Given the description of an element on the screen output the (x, y) to click on. 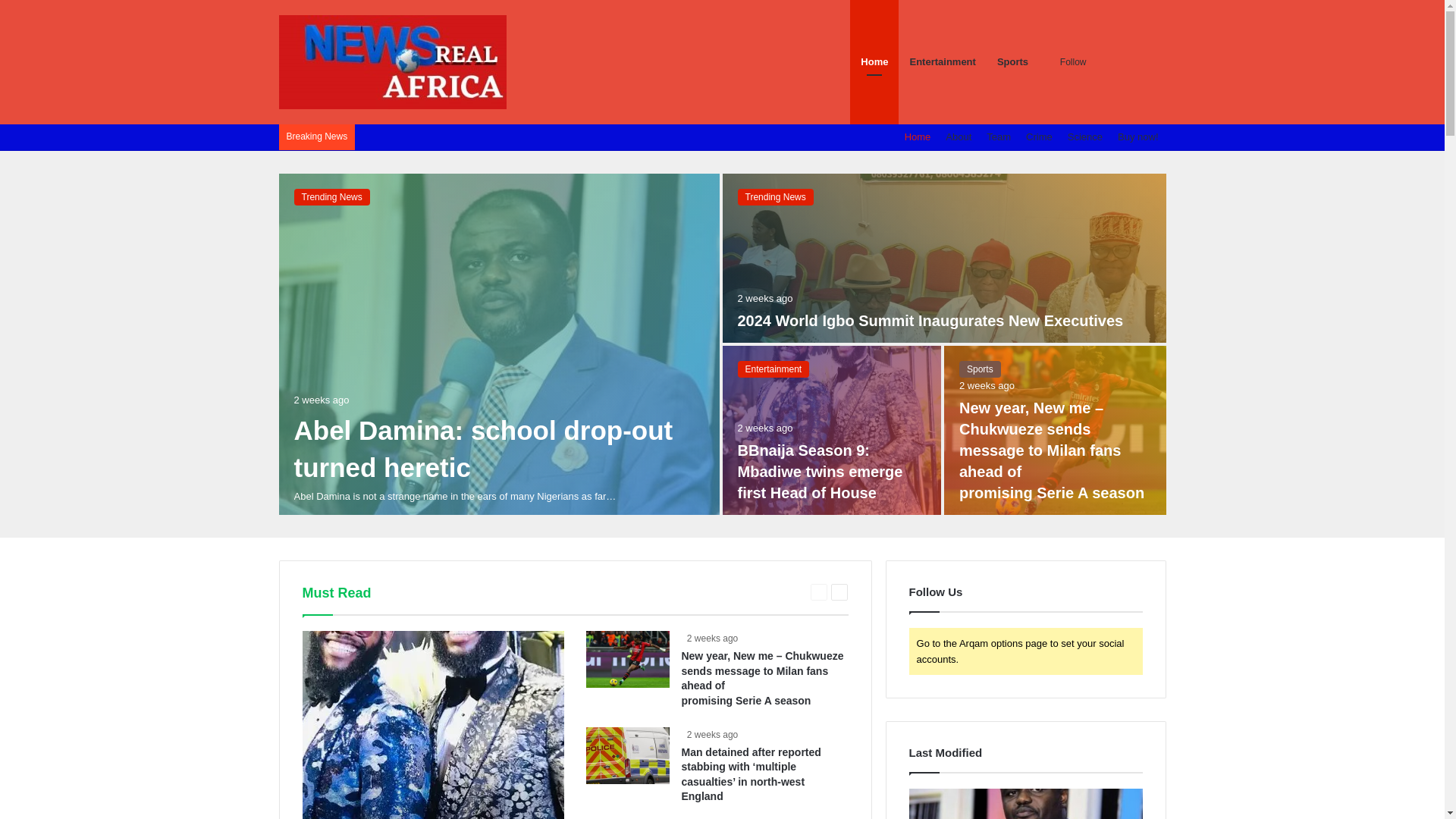
About (957, 136)
2024 World Igbo Summit Inaugurates New Executives (929, 320)
Buy now! (1137, 136)
Trending News (331, 197)
Crime (1038, 136)
Buy now! (1137, 136)
Entertainment (772, 369)
Science (1084, 136)
BBnaija Season 9: Mbadiwe twins emerge first Head of House (819, 471)
Newsreal Africa (392, 61)
